Given the description of an element on the screen output the (x, y) to click on. 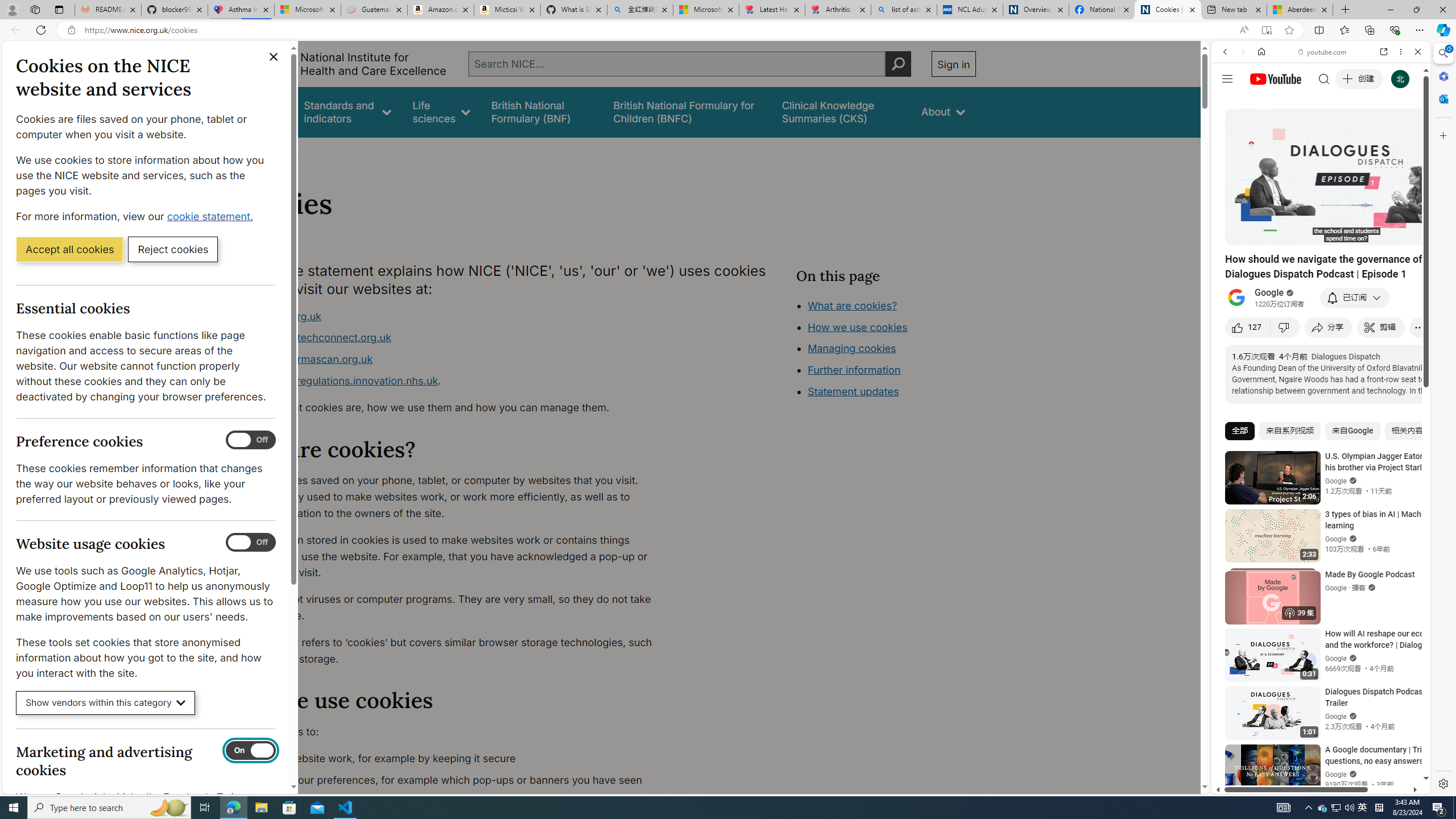
Search Filter, WEB (1230, 129)
#you (1315, 659)
Life sciences (440, 111)
Show vendors within this category (105, 703)
